Given the description of an element on the screen output the (x, y) to click on. 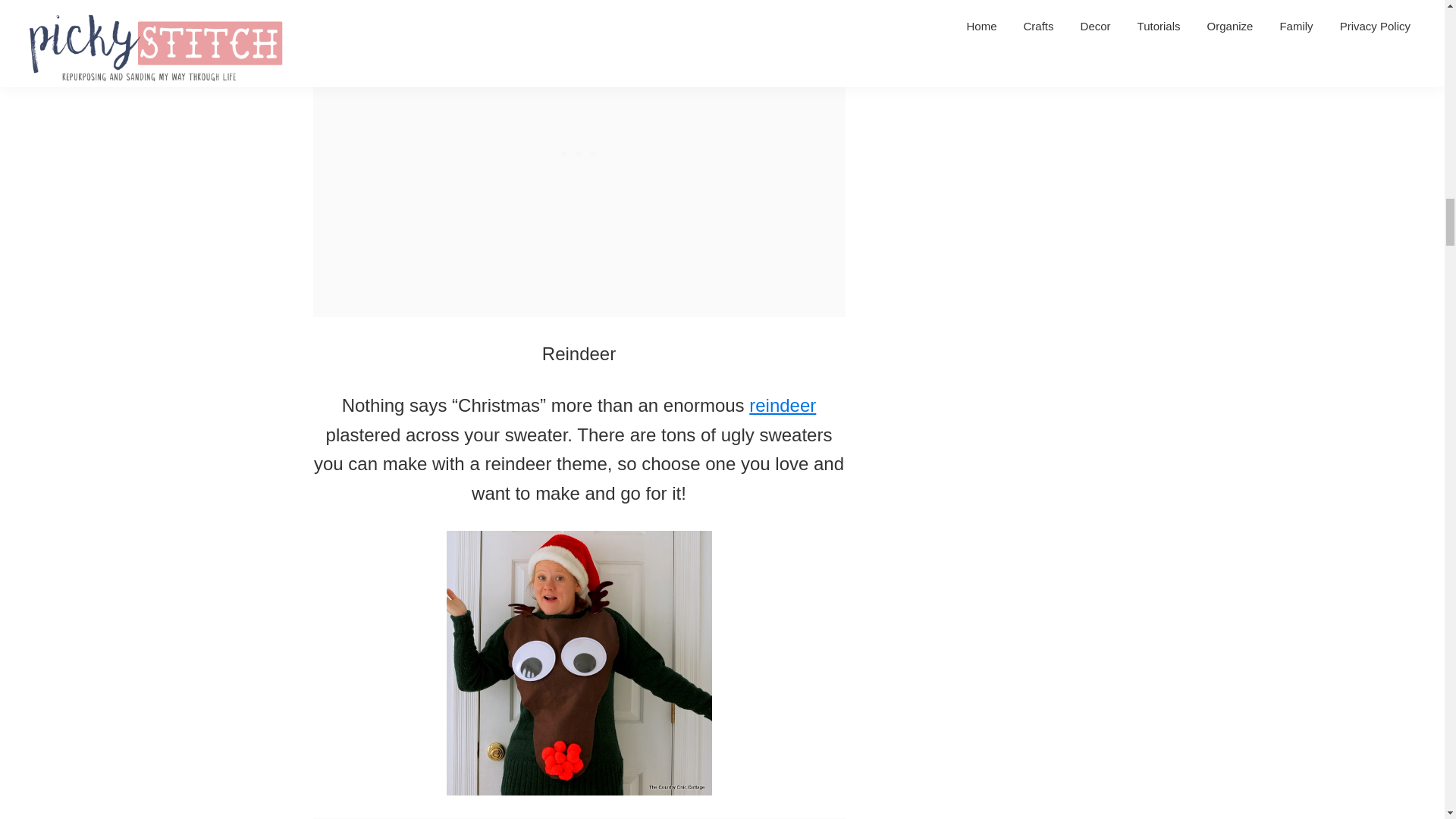
reindeer (782, 404)
